Given the description of an element on the screen output the (x, y) to click on. 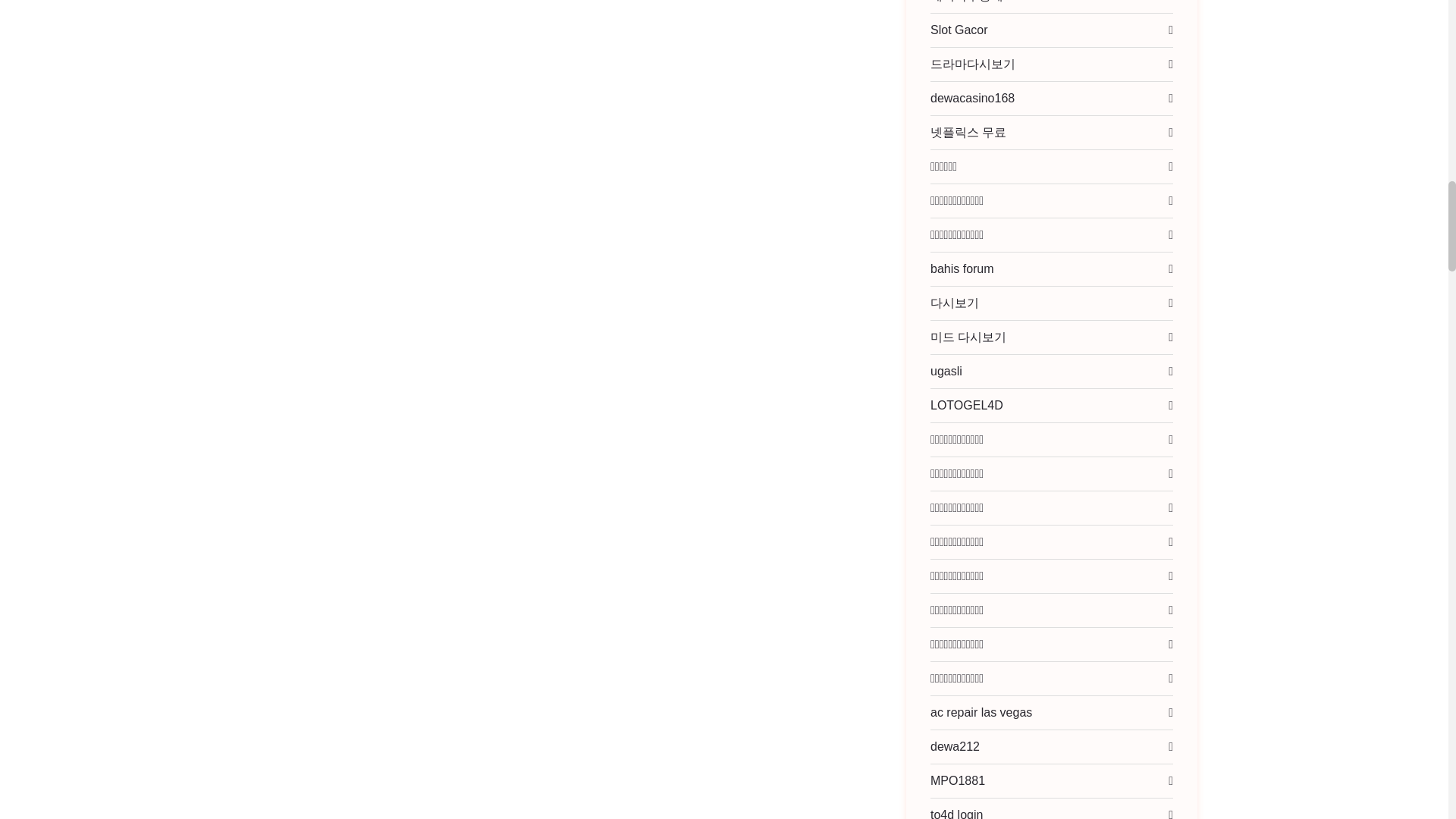
Post Comment (317, 458)
